Given the description of an element on the screen output the (x, y) to click on. 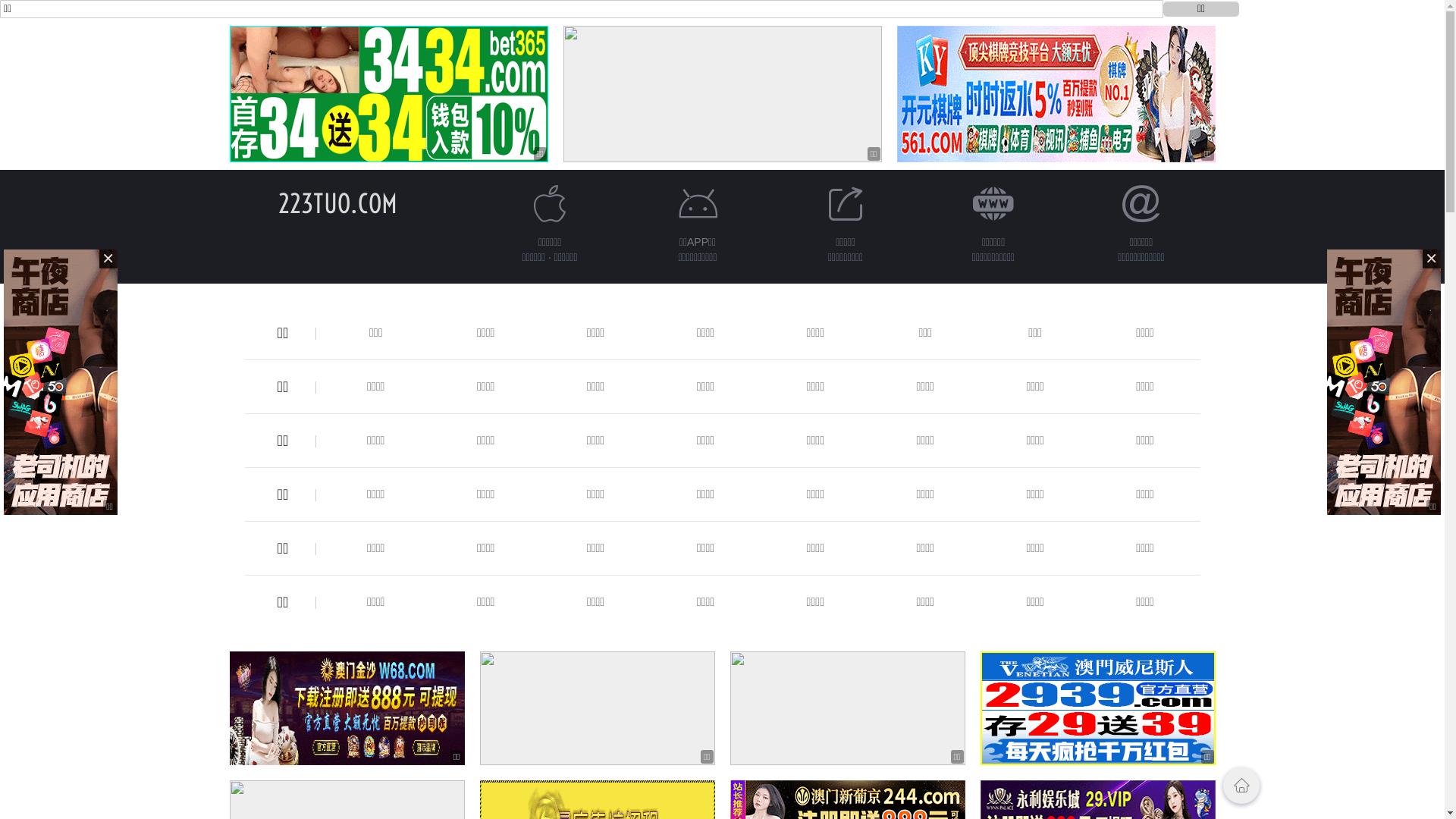
223TUO.COM Element type: text (337, 203)
